Given the description of an element on the screen output the (x, y) to click on. 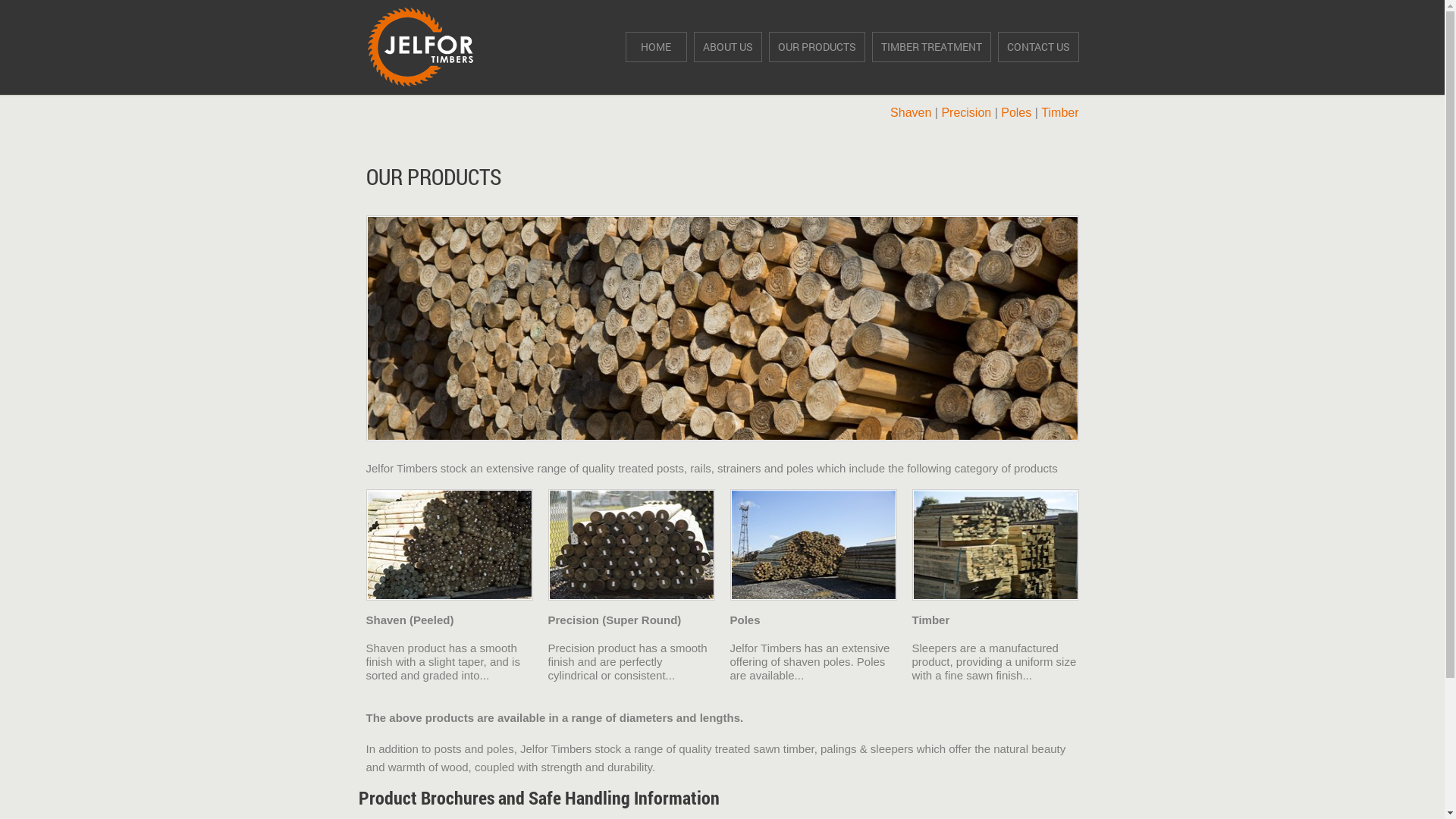
OUR PRODUCTS Element type: text (816, 46)
Poles Element type: text (1016, 112)
TIMBER TREATMENT Element type: text (931, 46)
Timber Element type: text (1059, 112)
Precision Element type: text (966, 112)
Shaven Element type: text (910, 112)
CONTACT US Element type: text (1038, 46)
ABOUT US Element type: text (727, 46)
HOME Element type: text (655, 46)
